Given the description of an element on the screen output the (x, y) to click on. 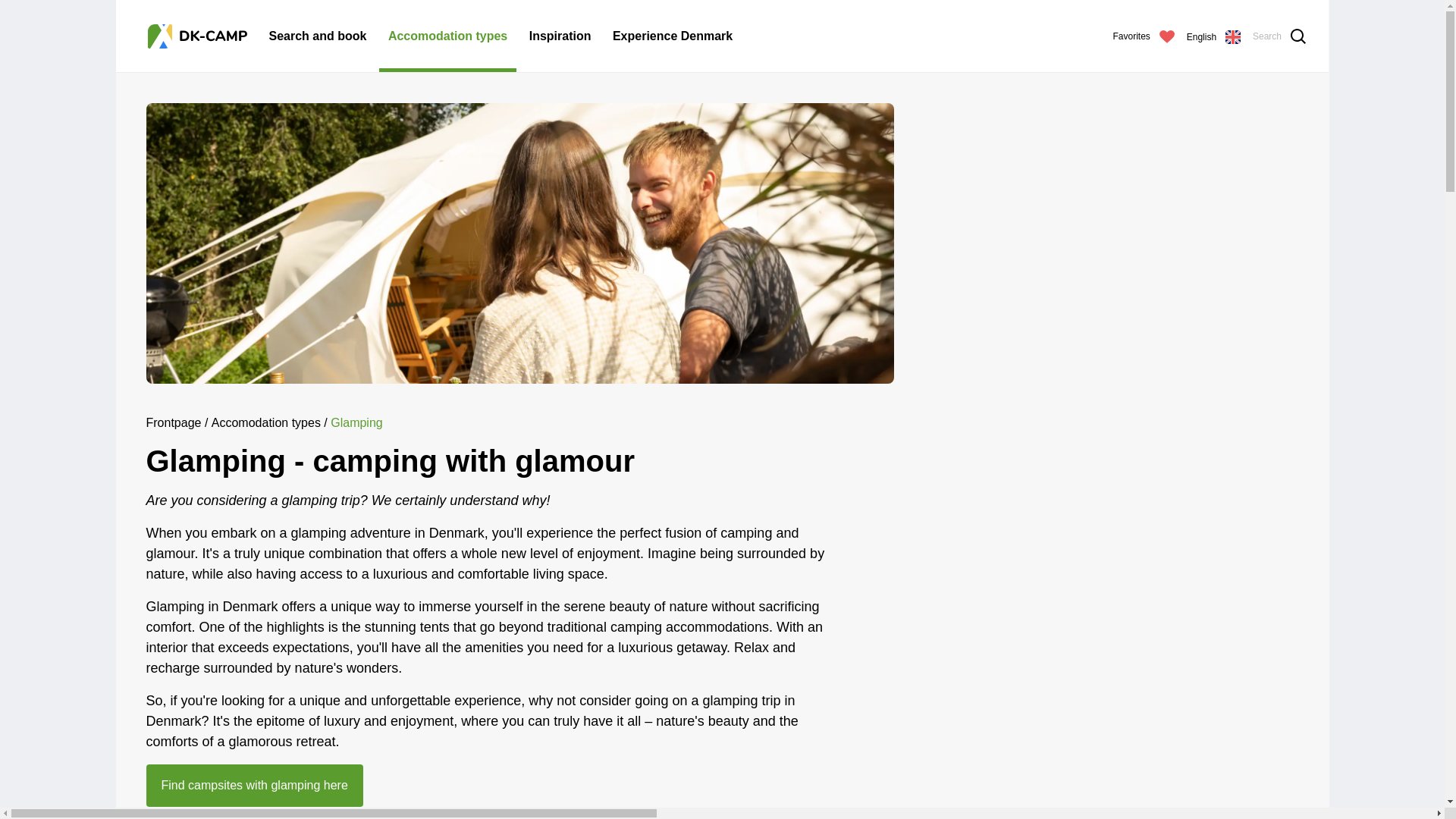
Search and book (317, 35)
Inspiration (559, 35)
Find campsites with glamping here (253, 785)
Frontpage (172, 422)
Experience Denmark (672, 35)
Favorites (1143, 36)
Search (1279, 36)
Accomodation types (265, 422)
Accomodation types (447, 35)
Glamping (355, 422)
